Given the description of an element on the screen output the (x, y) to click on. 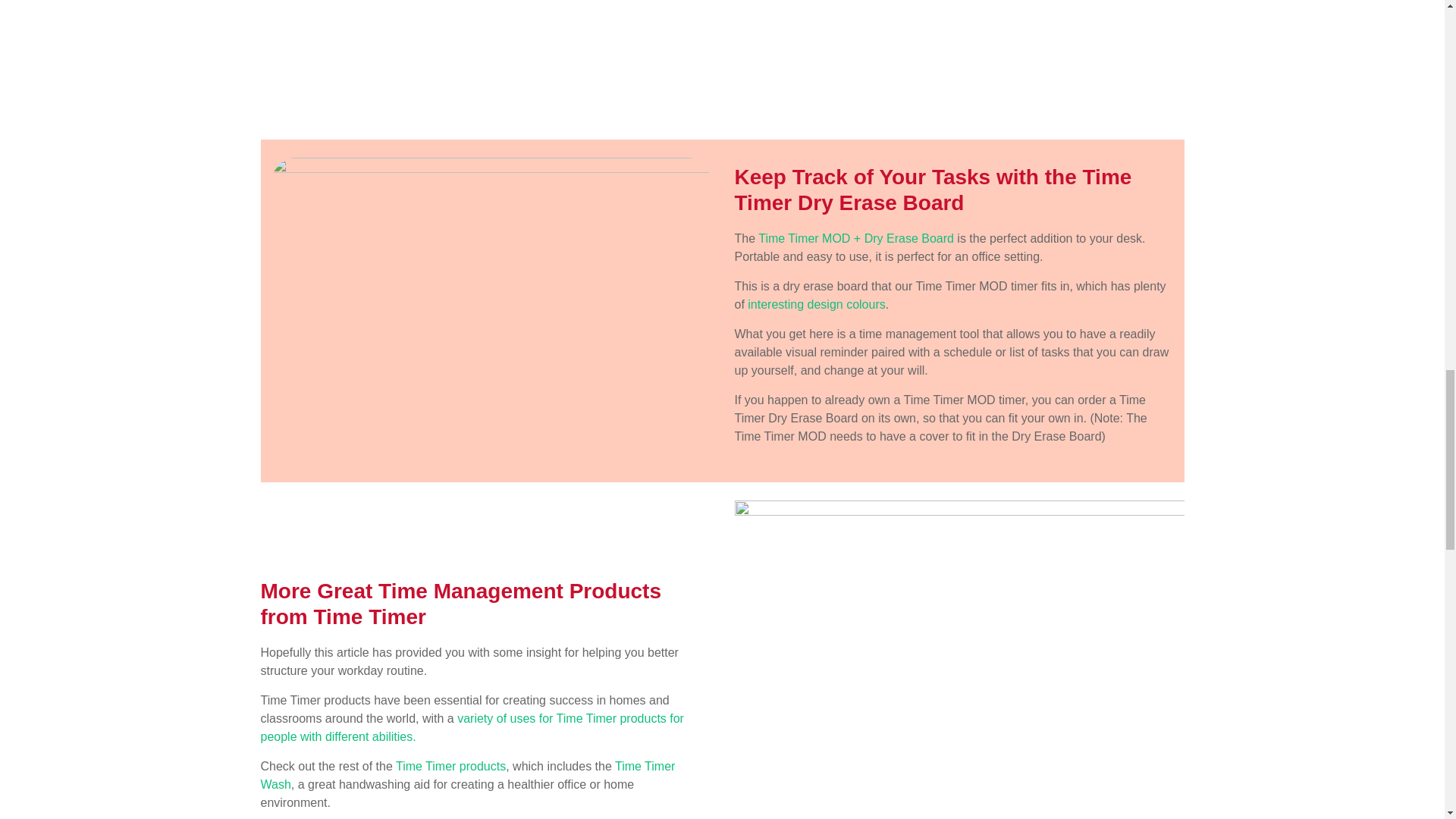
Time Timer Wash (467, 775)
Time Timer products (450, 766)
interesting design colours (816, 304)
